Given the description of an element on the screen output the (x, y) to click on. 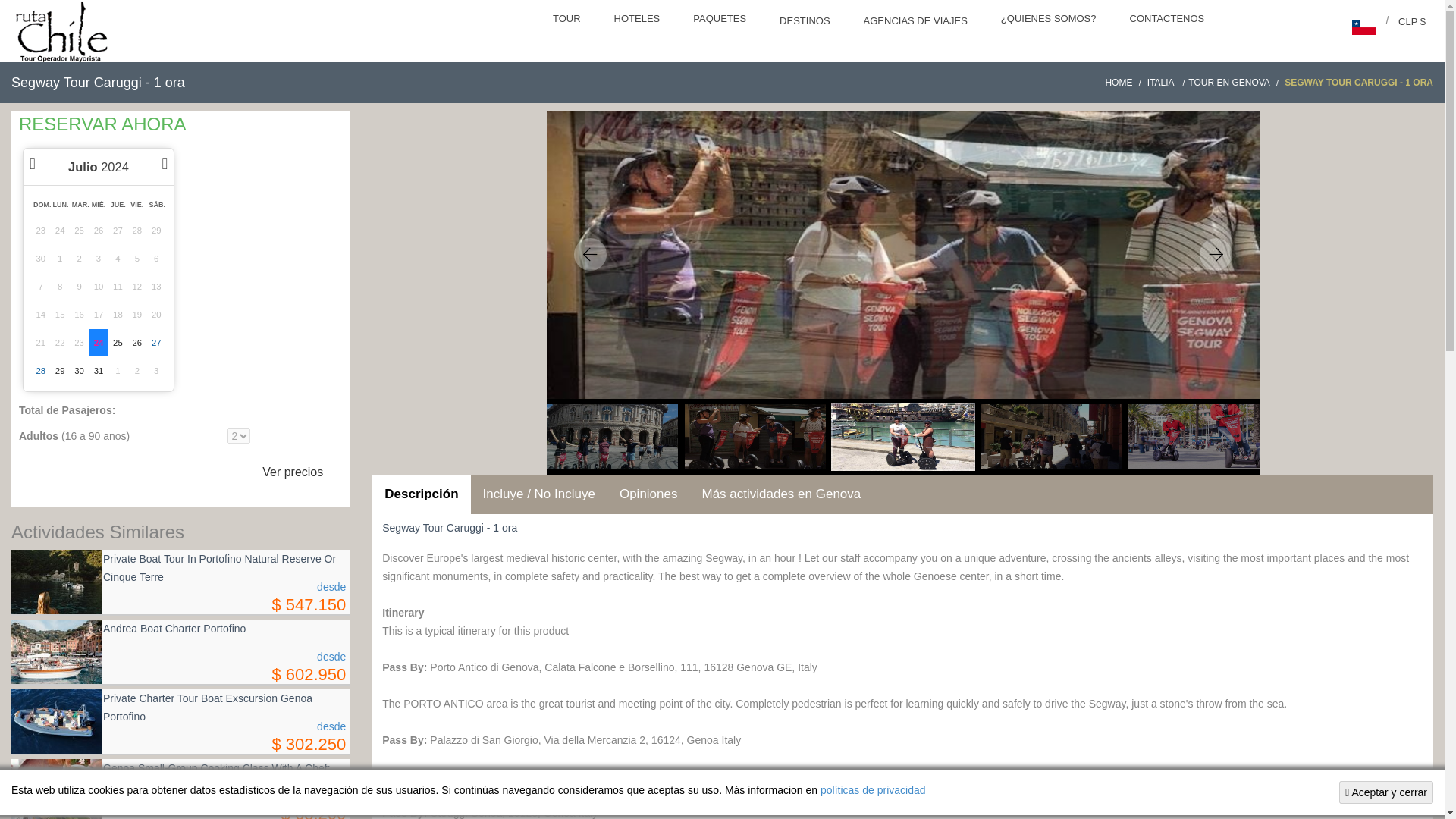
AGENCIAS DE VIAJES (916, 22)
TOUR EN GENOVA (1235, 81)
DESTINOS (805, 22)
CONTACTENOS (1169, 20)
TOUR (567, 20)
ITALIA (1167, 81)
Ver precios (292, 471)
PAQUETES (721, 20)
HOME (1124, 81)
HOTELES (638, 20)
